Given the description of an element on the screen output the (x, y) to click on. 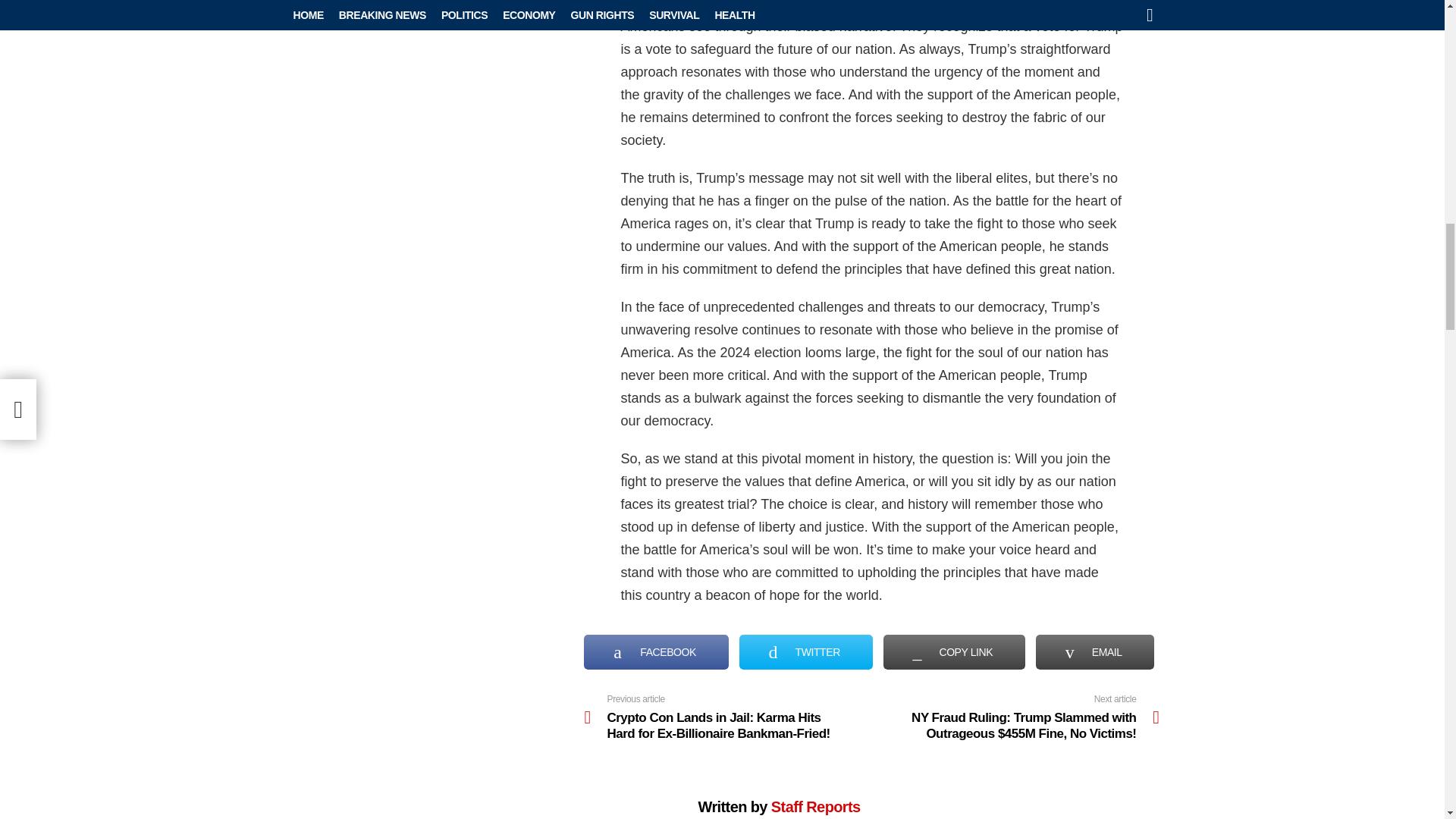
Share on Facebook (655, 651)
Share on Twitter (805, 651)
Share on Copy Link (954, 651)
Share on Email (1094, 651)
